Given the description of an element on the screen output the (x, y) to click on. 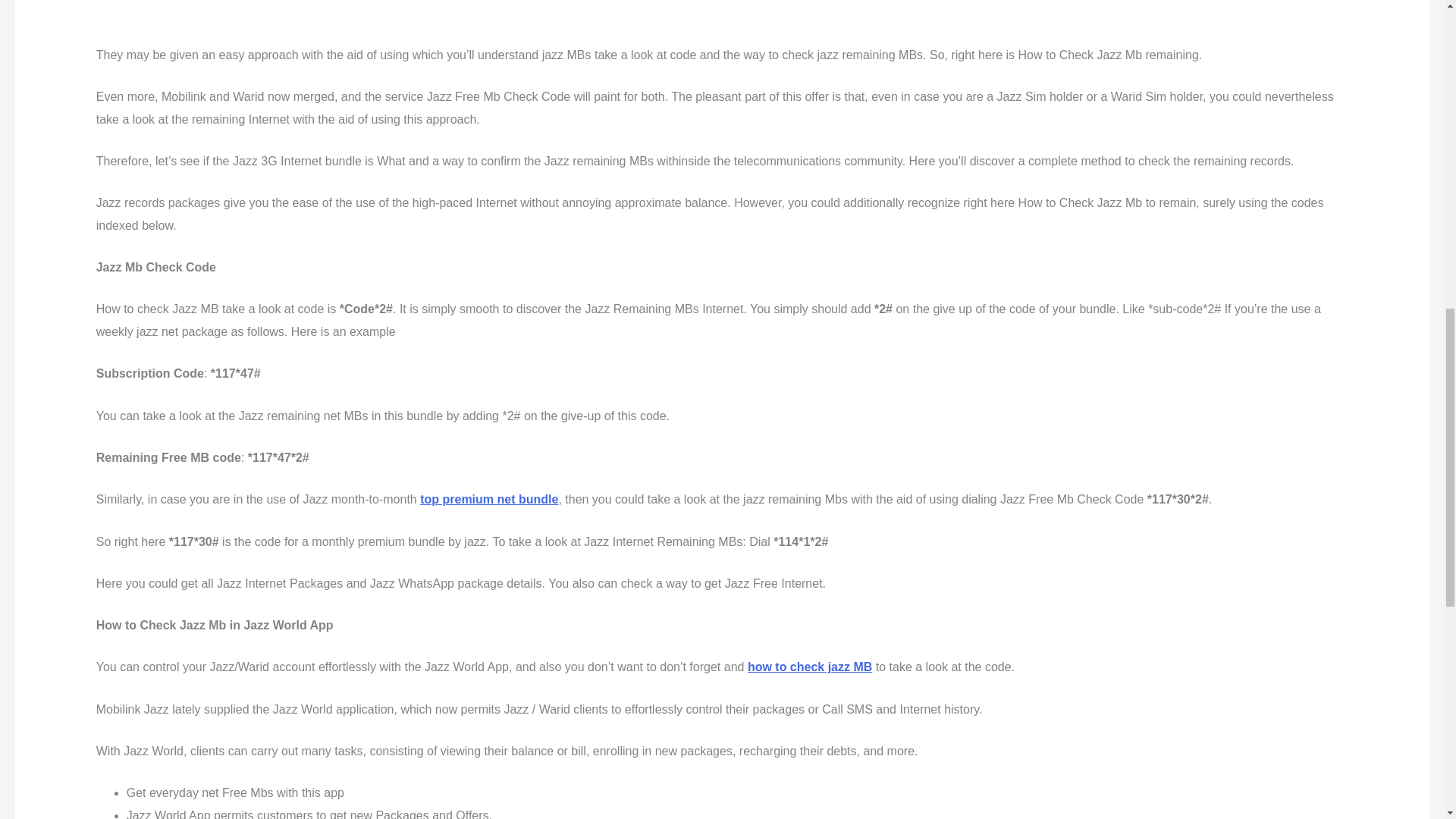
top premium net bundle (488, 499)
Advertisement (514, 14)
how to check jazz MB (810, 666)
